Given the description of an element on the screen output the (x, y) to click on. 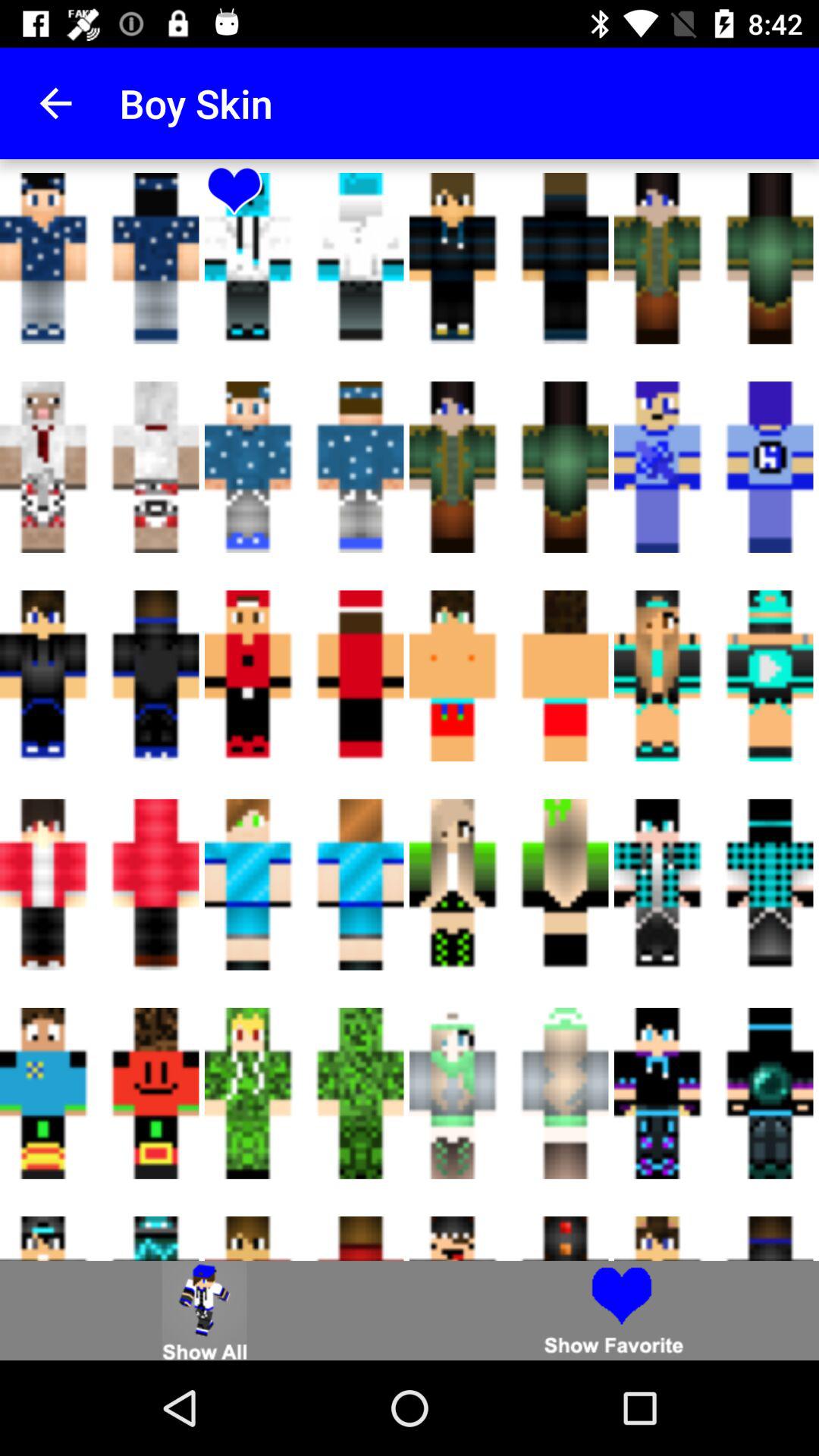
select the 5th and 6th images which is in the third row (509, 676)
click on third skin from top left of the page (714, 258)
